Given the description of an element on the screen output the (x, y) to click on. 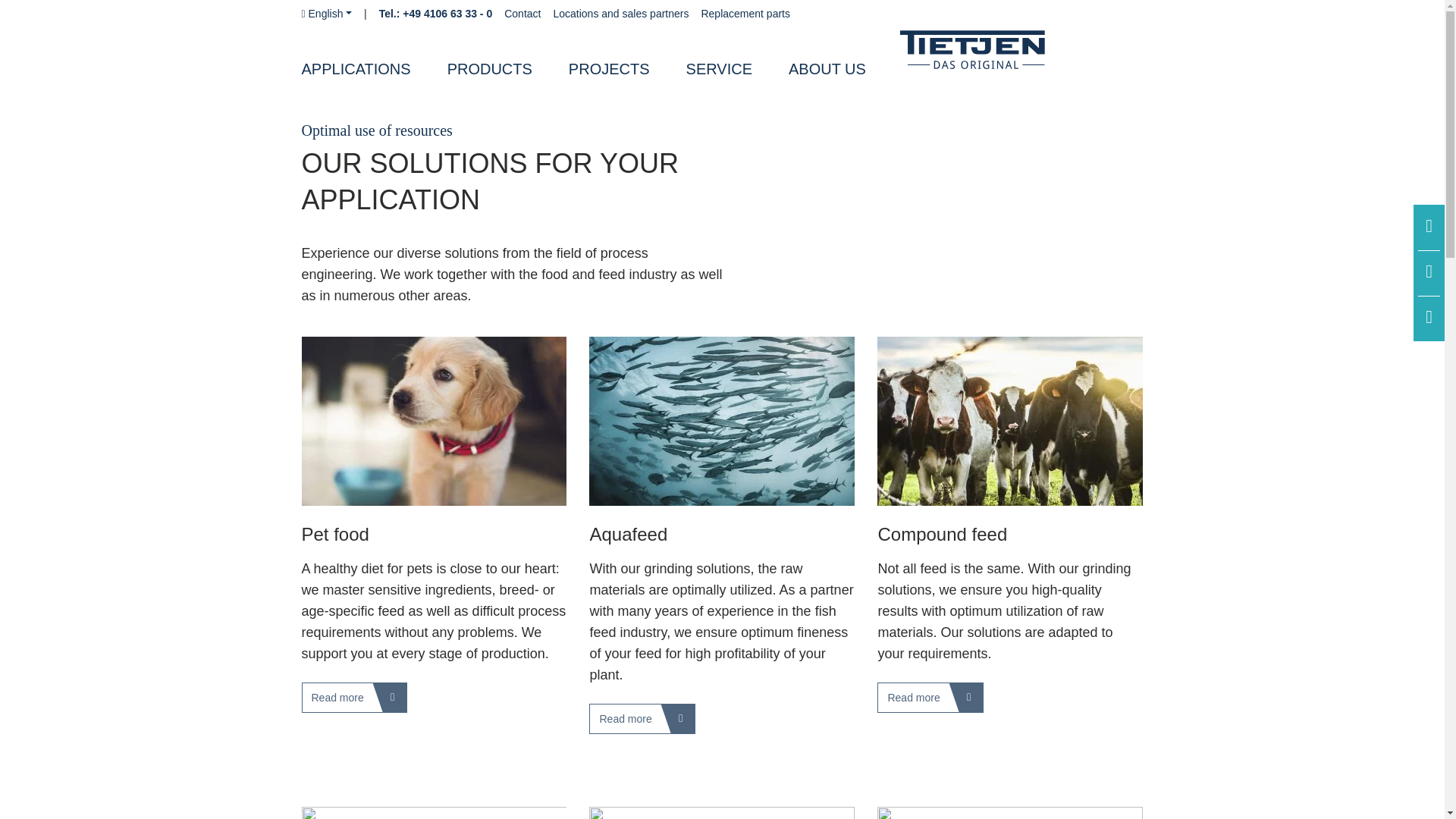
Locations and sales partners (620, 14)
Biowaste (721, 812)
English (326, 13)
APPLICATIONS (373, 69)
Pet food (434, 421)
Compound feed (1009, 421)
Biogas (434, 812)
Replacement parts (745, 14)
Aquafeed (721, 421)
Alcohol and ethanol (1009, 812)
PRODUCTS (507, 69)
Contact (521, 14)
Home (1000, 58)
